Given the description of an element on the screen output the (x, y) to click on. 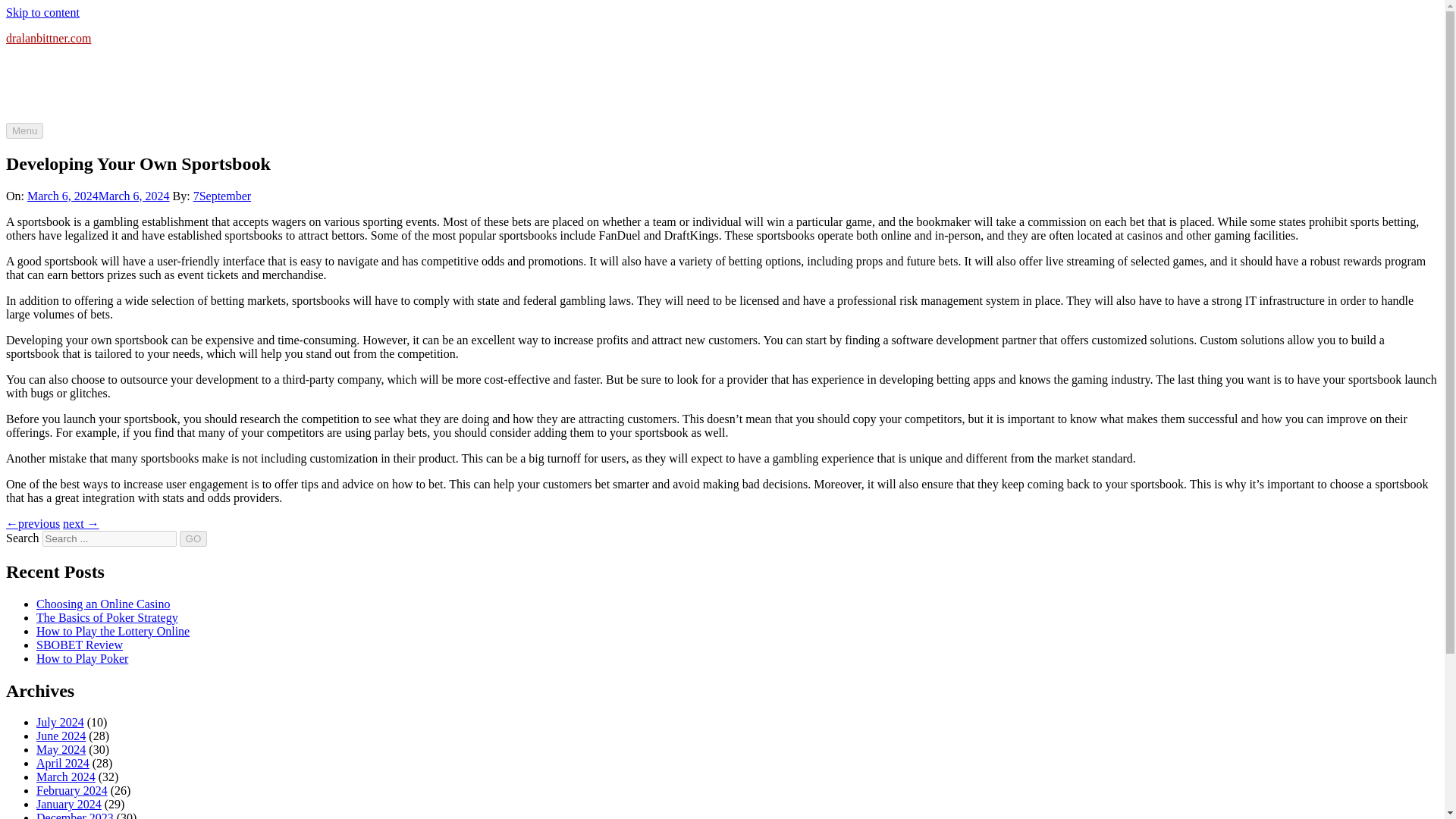
February 2024 (71, 789)
March 2024 (66, 776)
Choosing an Online Casino (103, 603)
May 2024 (60, 748)
How to Play the Lottery Online (112, 631)
Menu (24, 130)
Skip to content (42, 11)
The Basics of Poker Strategy (106, 617)
GO (193, 538)
March 6, 2024March 6, 2024 (98, 195)
